Given the description of an element on the screen output the (x, y) to click on. 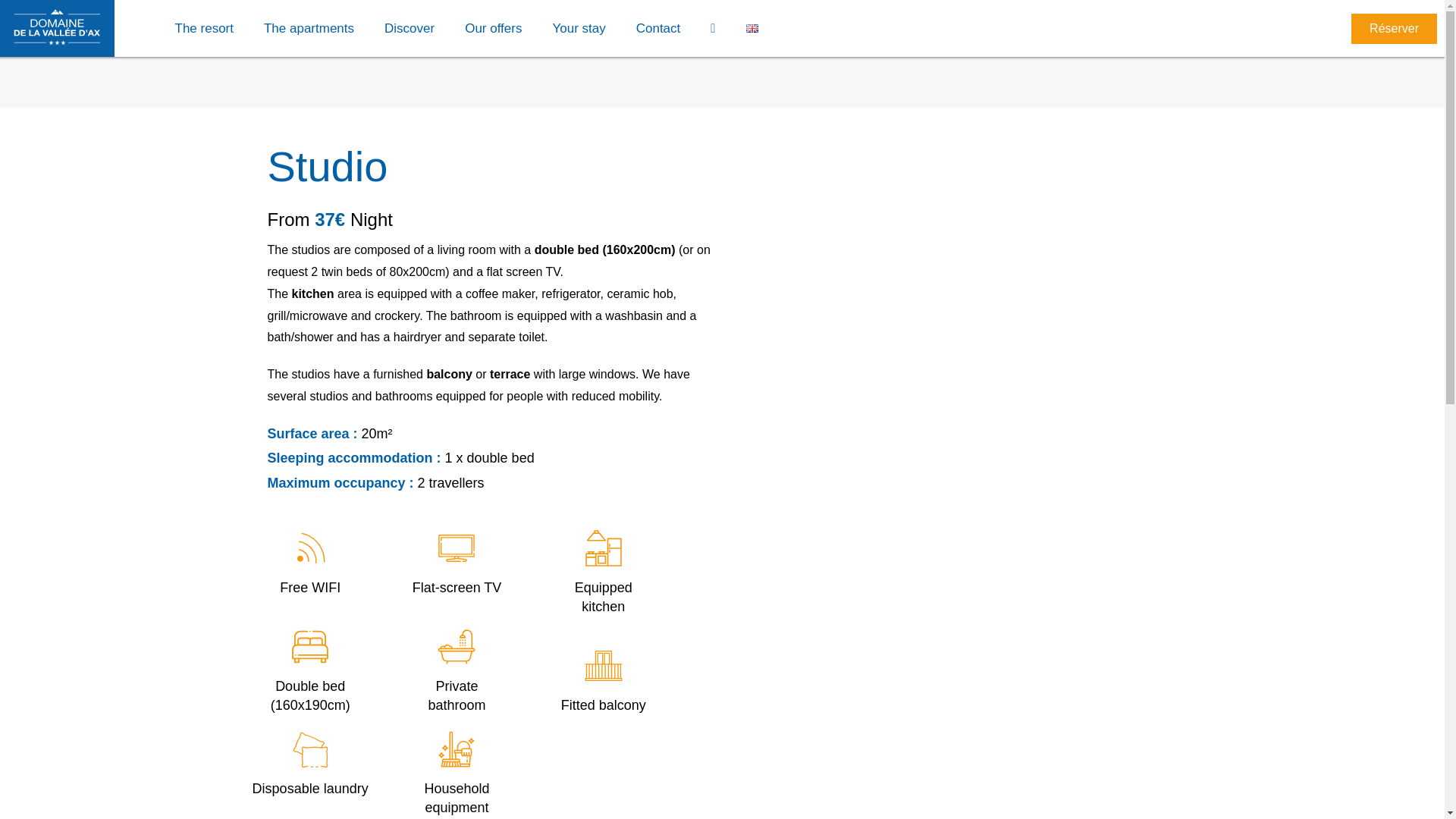
Our offers (493, 27)
Your stay (578, 27)
Contact (658, 27)
Discover (409, 27)
The apartments (308, 27)
The resort (202, 27)
